Given the description of an element on the screen output the (x, y) to click on. 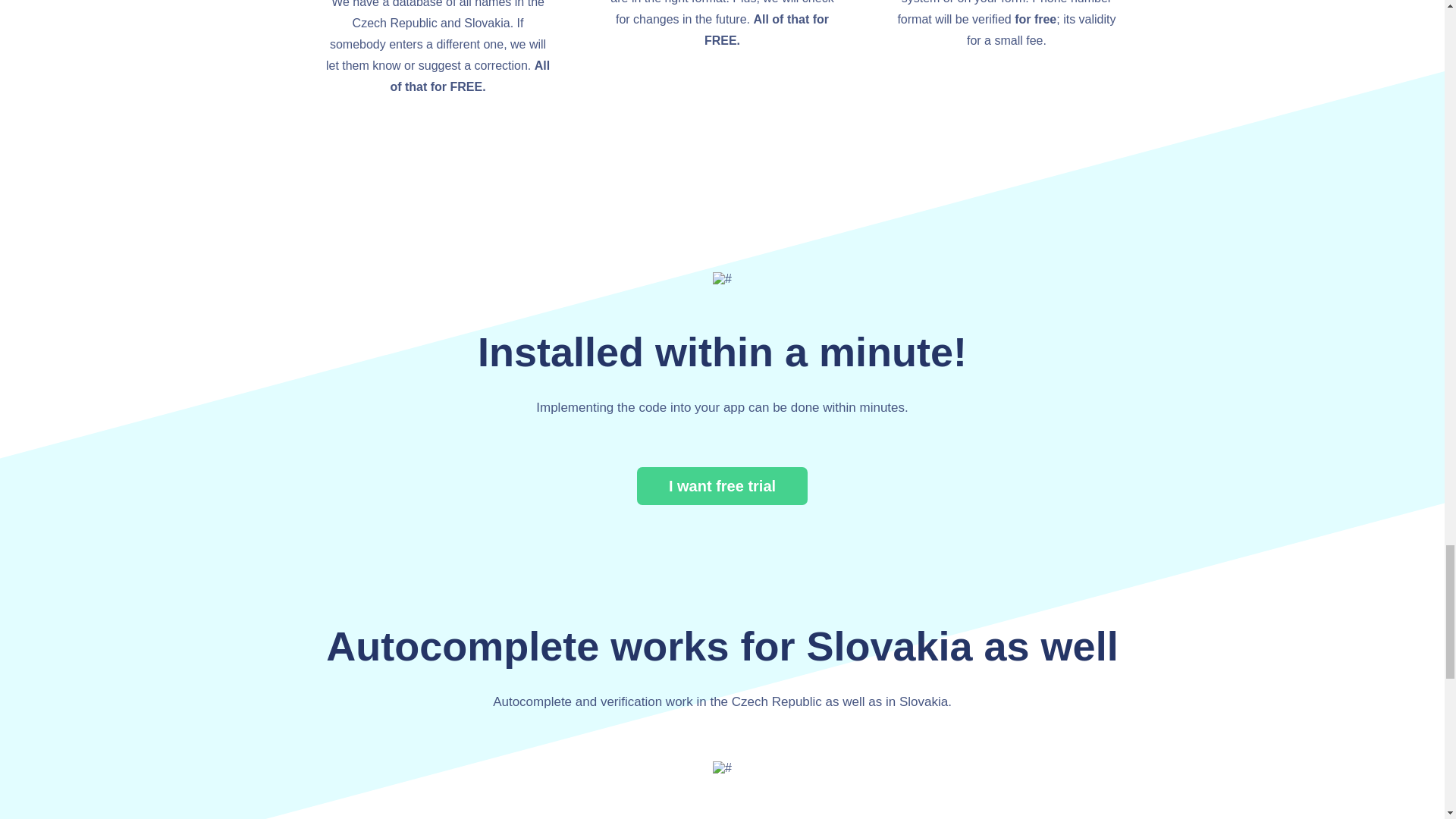
I want free trial (722, 485)
